Given the description of an element on the screen output the (x, y) to click on. 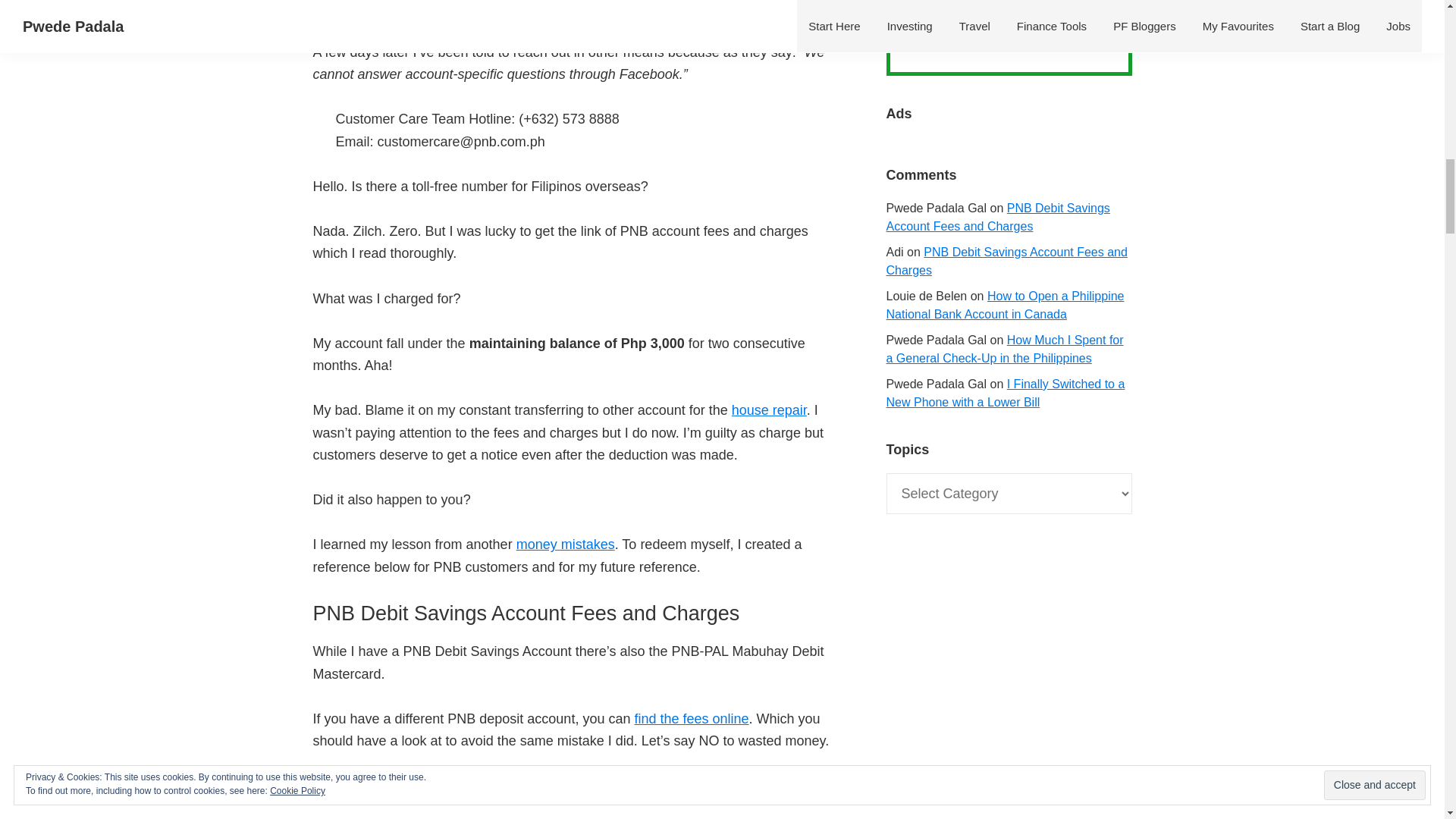
find the fees online (690, 718)
money mistakes (565, 544)
house repair (769, 409)
